Given the description of an element on the screen output the (x, y) to click on. 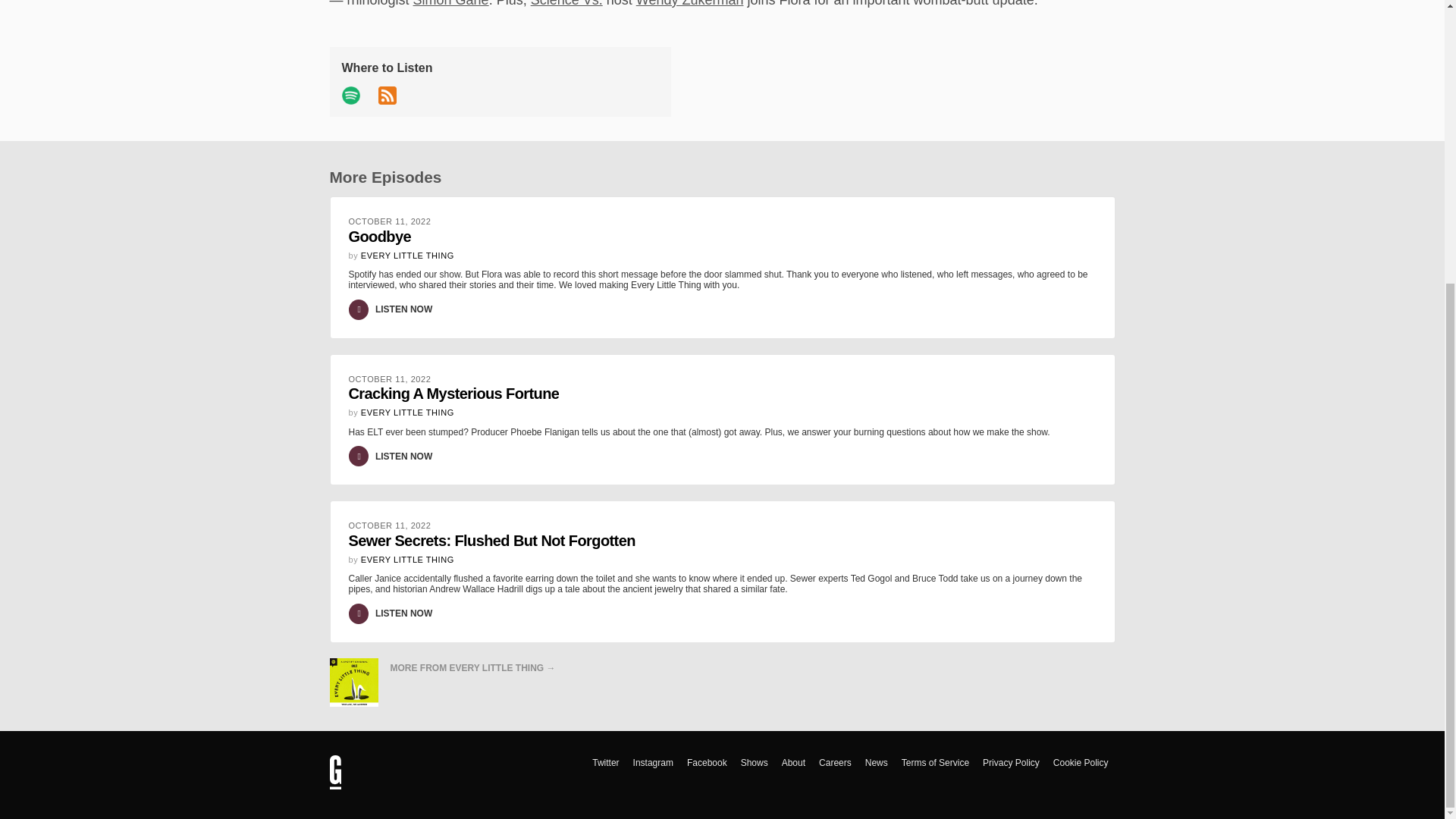
LISTEN NOW (403, 308)
Wendy Zukerman (690, 3)
Simon Gane (401, 238)
More Episodes (451, 3)
Science Vs. (385, 176)
